Given the description of an element on the screen output the (x, y) to click on. 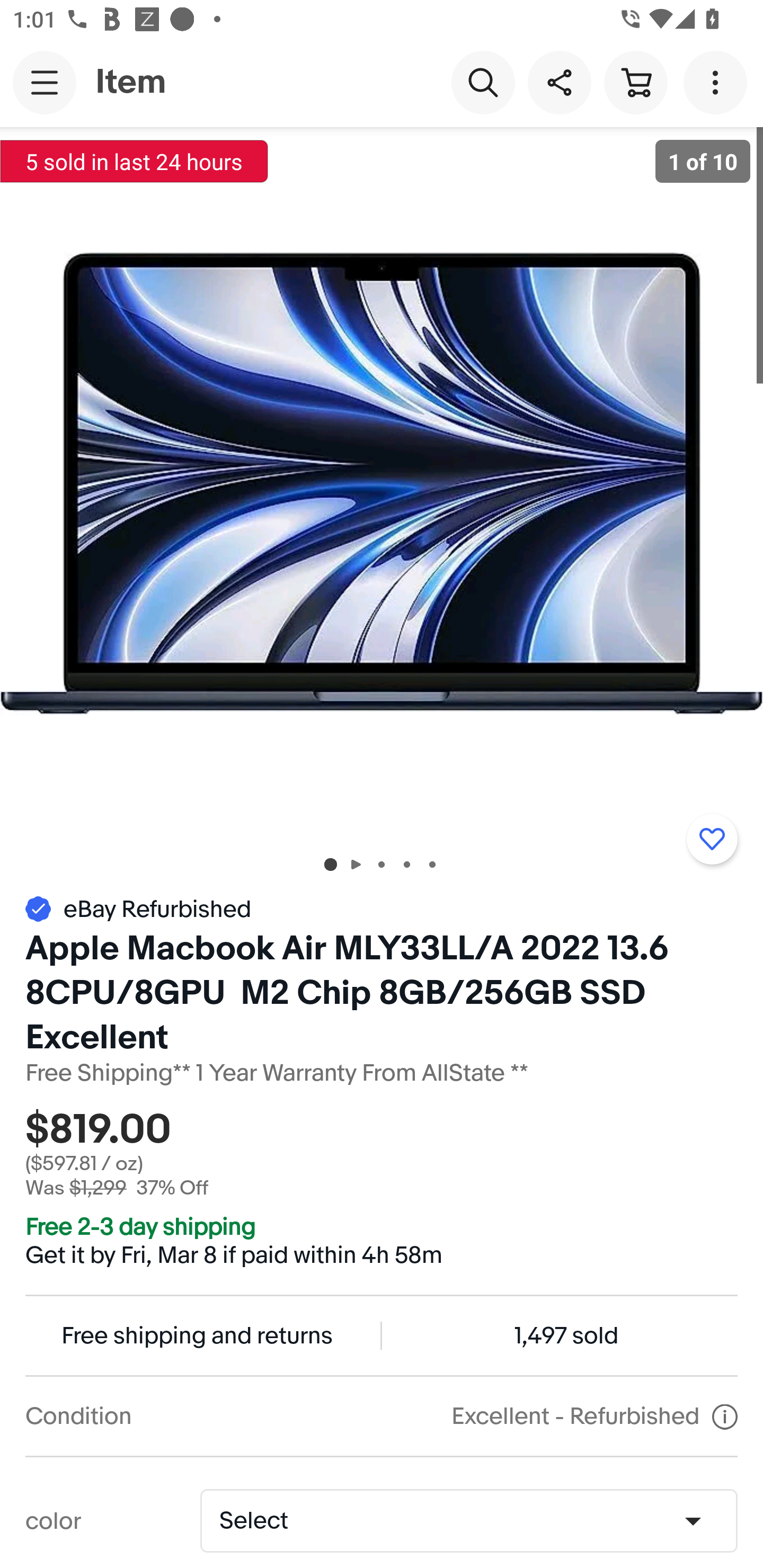
Main navigation, open (44, 82)
Search (482, 81)
Share this item (559, 81)
Cart button shopping cart (635, 81)
More options (718, 81)
5 sold in last 24 hours (133, 161)
Add to watchlist (711, 838)
color,No selection Select (468, 1520)
